Given the description of an element on the screen output the (x, y) to click on. 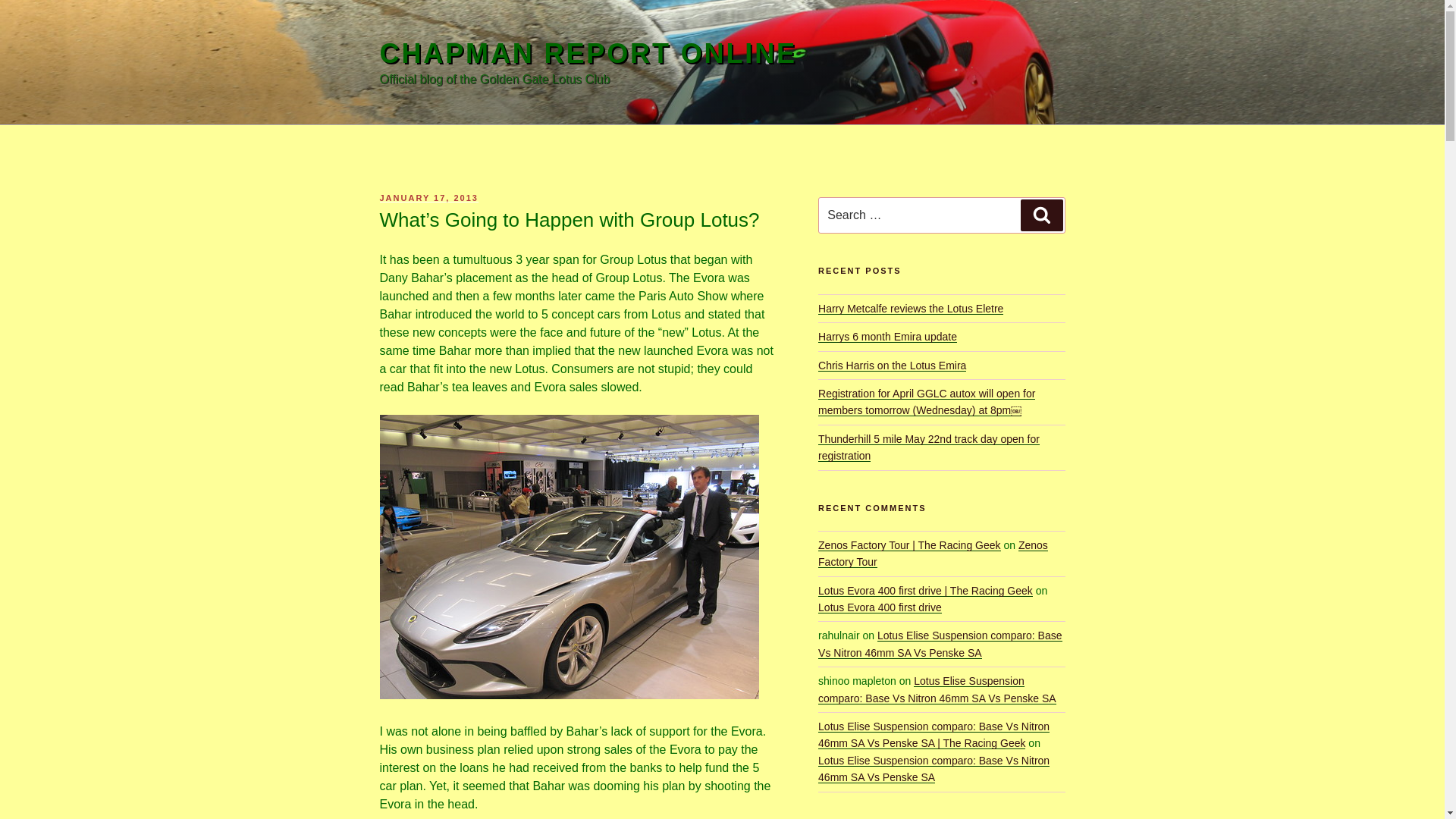
Thunderhill 5 mile May 22nd track day open for registration (928, 447)
Lotus Evora 400 first drive (880, 607)
Zenos Factory Tour (933, 553)
Harry Metcalfe reviews the Lotus Eletre (910, 308)
JANUARY 17, 2013 (427, 197)
Harrys 6 month Emira update (887, 336)
Search (1041, 214)
Chris Harris on the Lotus Emira (892, 365)
CHAPMAN REPORT ONLINE (587, 52)
